Given the description of an element on the screen output the (x, y) to click on. 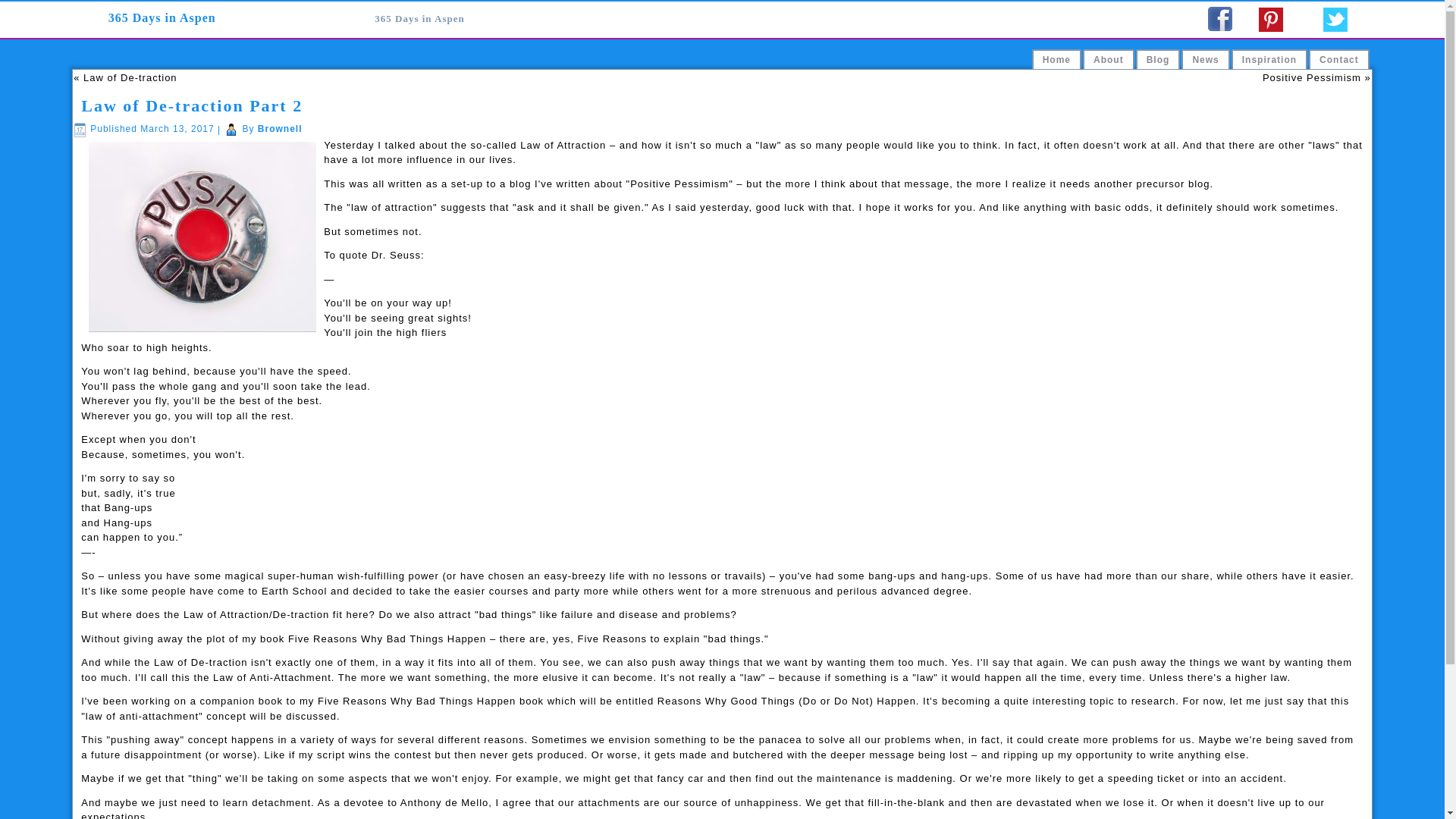
About Element type: text (1108, 59)
365 Days in Aspen Element type: text (419, 18)
Contact Element type: text (1338, 59)
News Element type: text (1205, 59)
Brownell Element type: text (279, 128)
Law of De-traction Element type: text (130, 77)
Home Element type: text (1056, 59)
Inspiration Element type: text (1269, 59)
Positive Pessimism Element type: text (1311, 77)
Blog Element type: text (1157, 59)
